Given the description of an element on the screen output the (x, y) to click on. 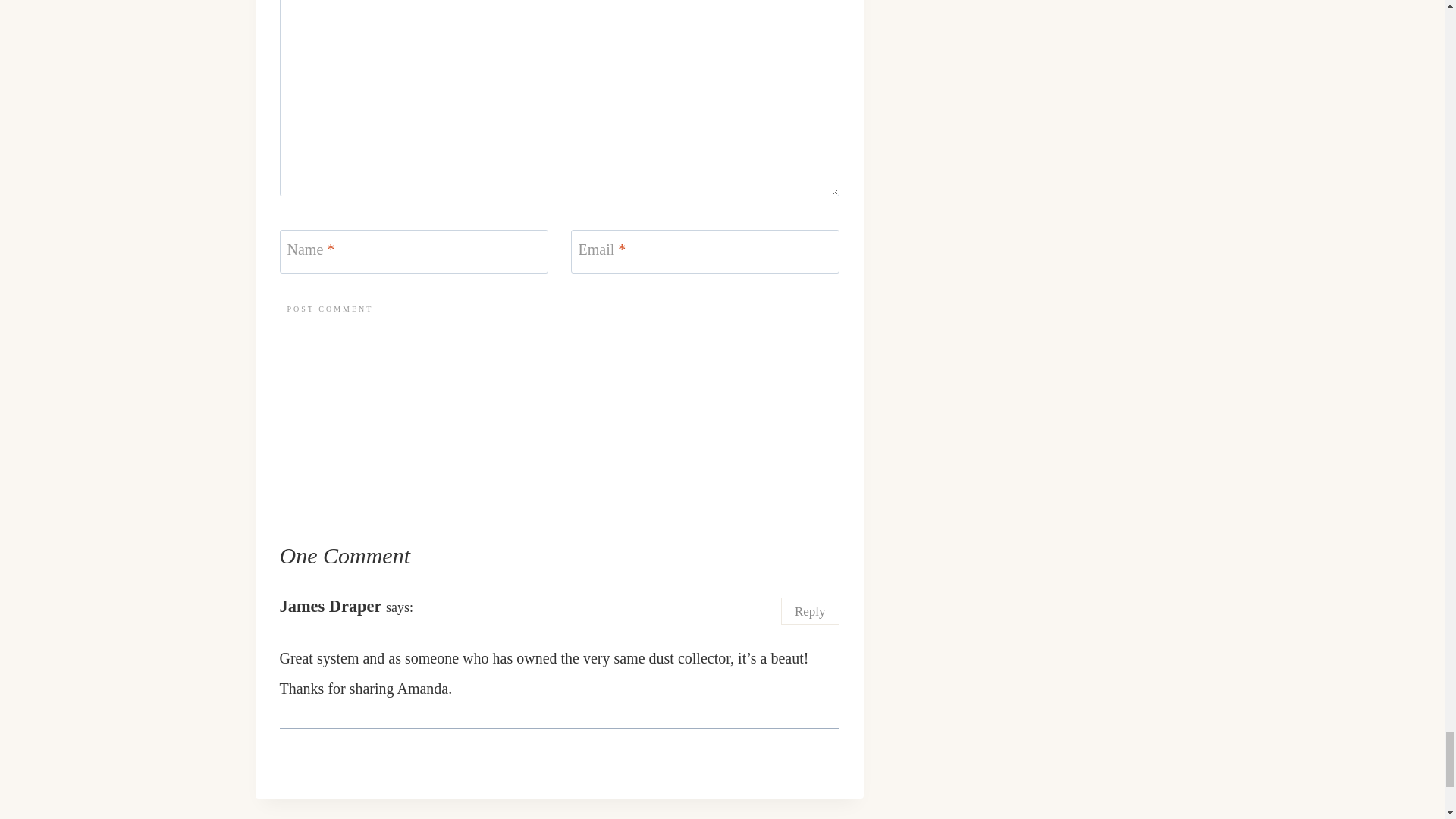
Post Comment (329, 309)
Post Comment (329, 309)
Reply (810, 610)
James Draper (330, 606)
